Given the description of an element on the screen output the (x, y) to click on. 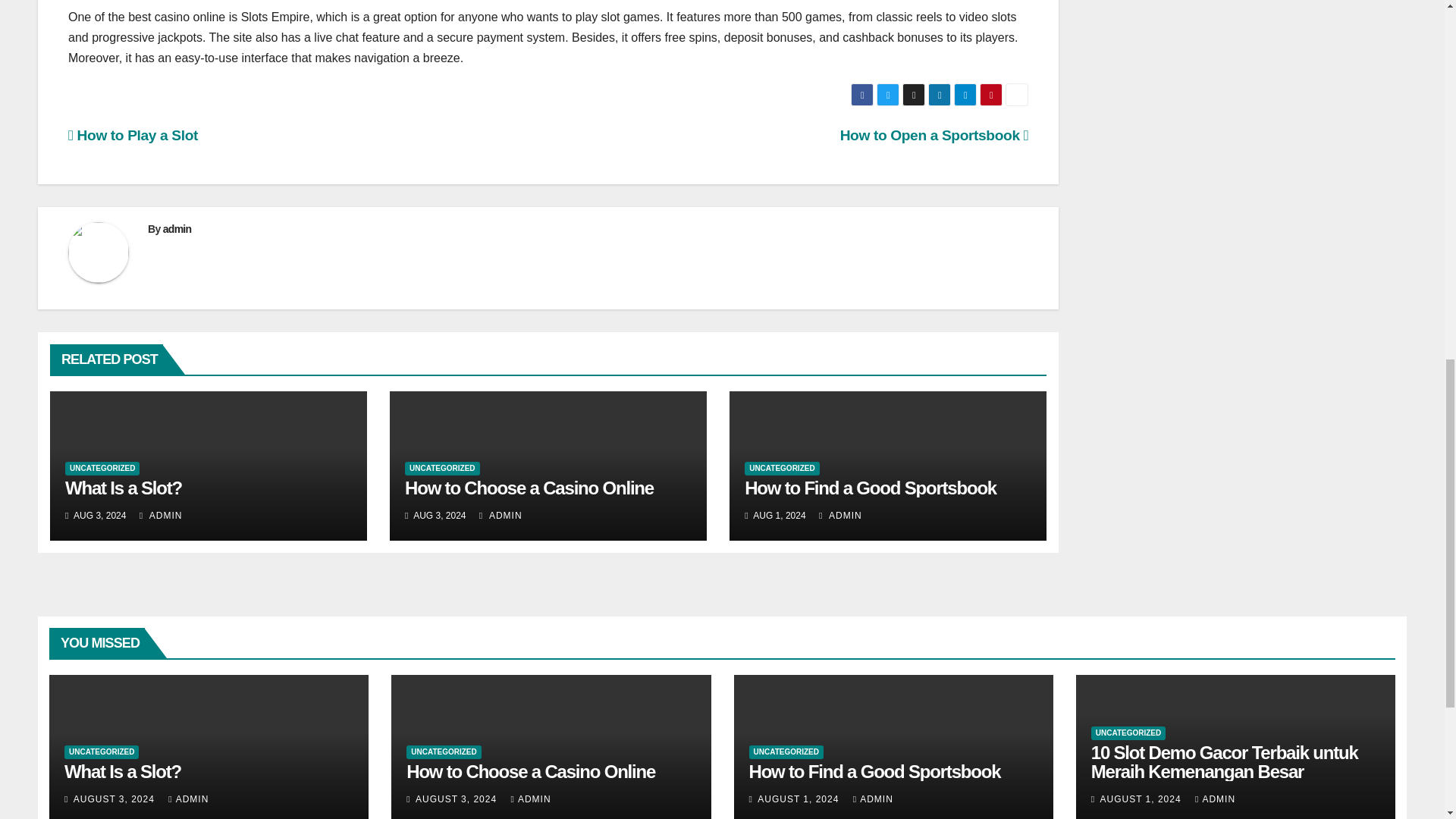
How to Open a Sportsbook (934, 135)
UNCATEGORIZED (102, 468)
ADMIN (500, 515)
Permalink to: What Is a Slot? (123, 487)
Permalink to: How to Choose a Casino Online (528, 487)
UNCATEGORIZED (441, 468)
ADMIN (161, 515)
admin (177, 228)
Permalink to: How to Find a Good Sportsbook (875, 771)
Permalink to: How to Choose a Casino Online (530, 771)
What Is a Slot? (123, 487)
Permalink to: What Is a Slot? (122, 771)
Permalink to: How to Find a Good Sportsbook (869, 487)
How to Play a Slot (133, 135)
How to Choose a Casino Online (528, 487)
